Given the description of an element on the screen output the (x, y) to click on. 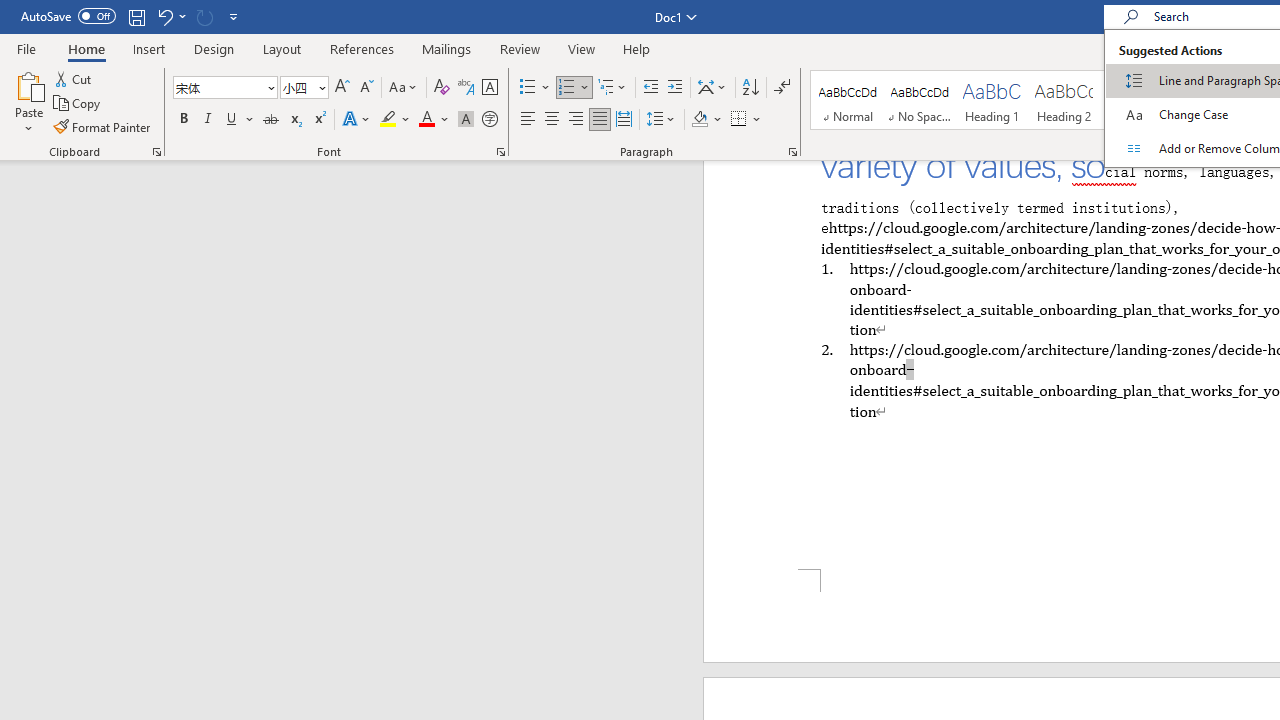
AutoSave (68, 16)
Center (552, 119)
Undo Apply Quick Style (170, 15)
Mailings (447, 48)
Numbering (566, 87)
Font... (500, 151)
Distributed (623, 119)
Character Shading (465, 119)
Clear Formatting (442, 87)
Superscript (319, 119)
Copy (78, 103)
Text Highlight Color (395, 119)
Office Clipboard... (156, 151)
